Given the description of an element on the screen output the (x, y) to click on. 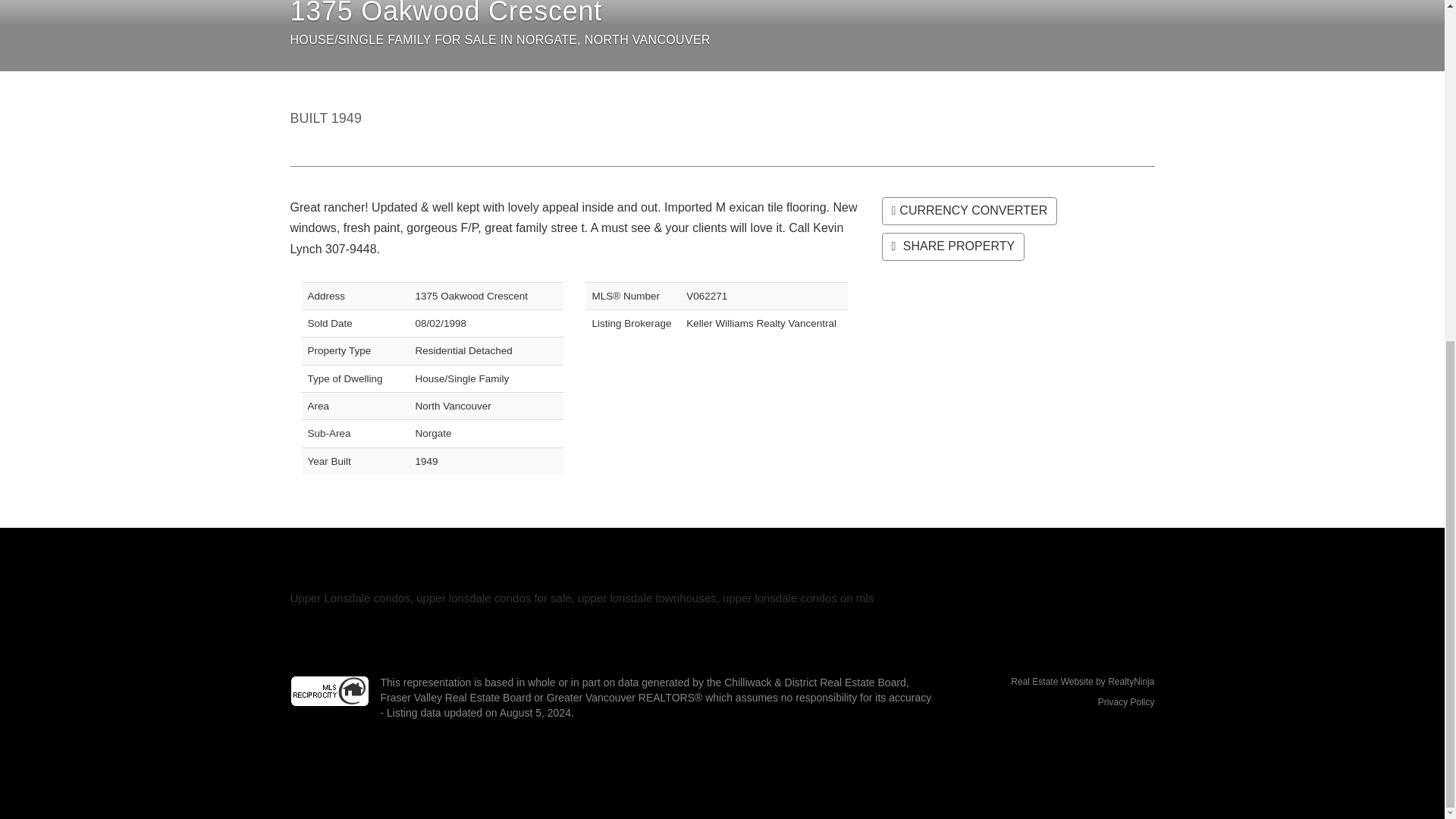
Privacy Policy (1125, 701)
Real Estate Website by RealtyNinja (1054, 681)
CURRENCY CONVERTER (968, 211)
SHARE PROPERTY (952, 246)
